Given the description of an element on the screen output the (x, y) to click on. 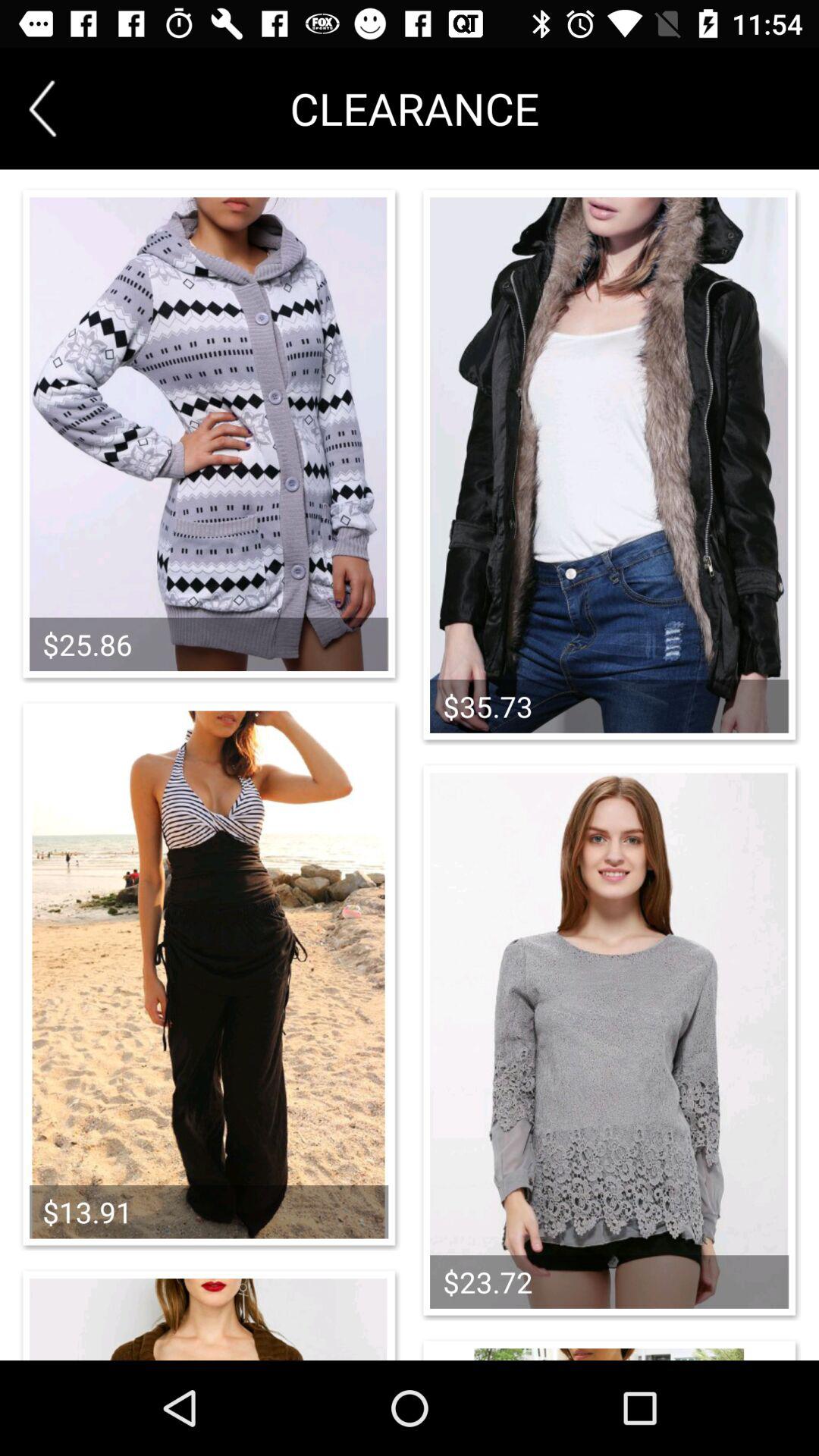
go to previous (42, 108)
